Given the description of an element on the screen output the (x, y) to click on. 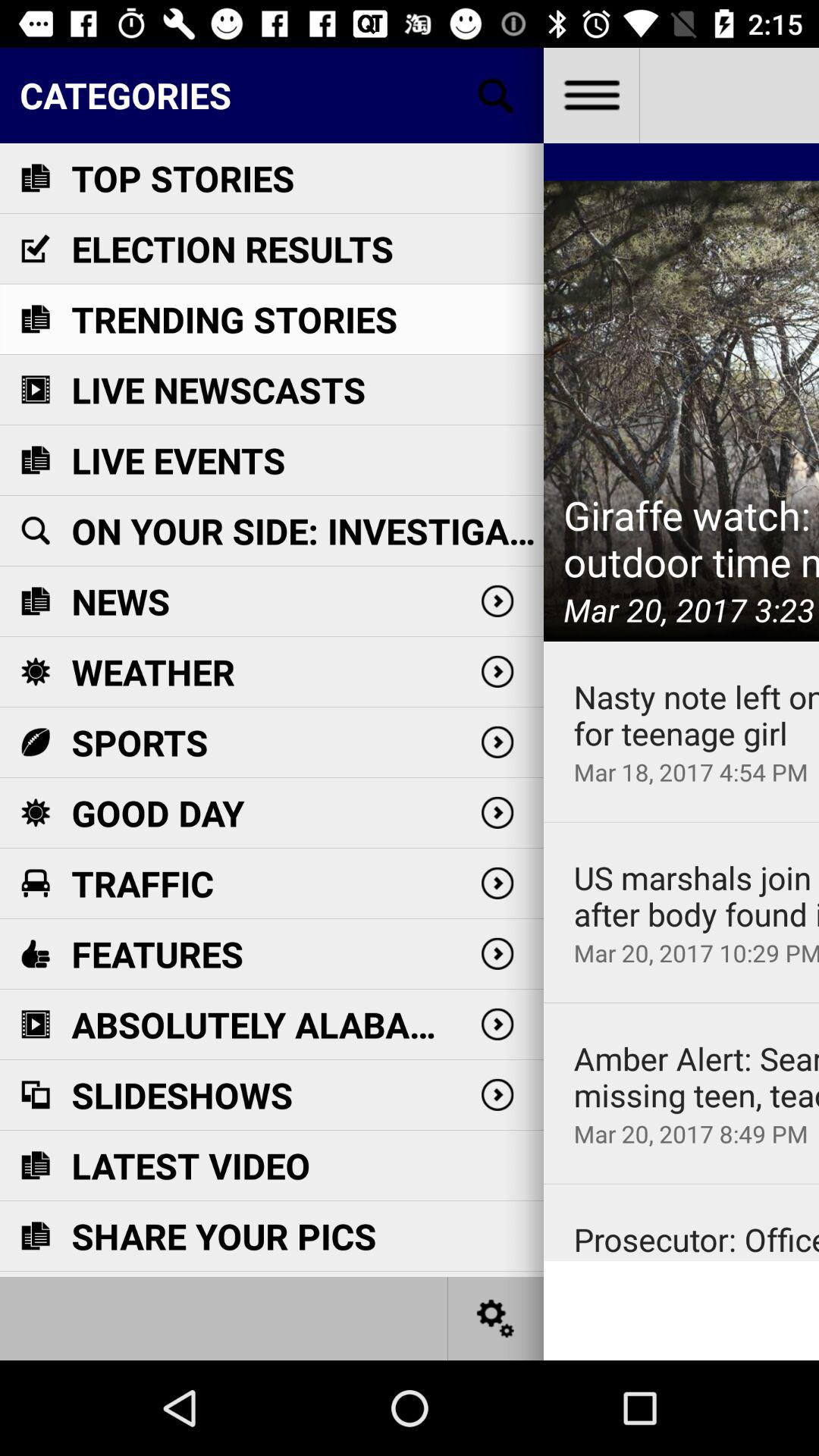
search (495, 95)
